Given the description of an element on the screen output the (x, y) to click on. 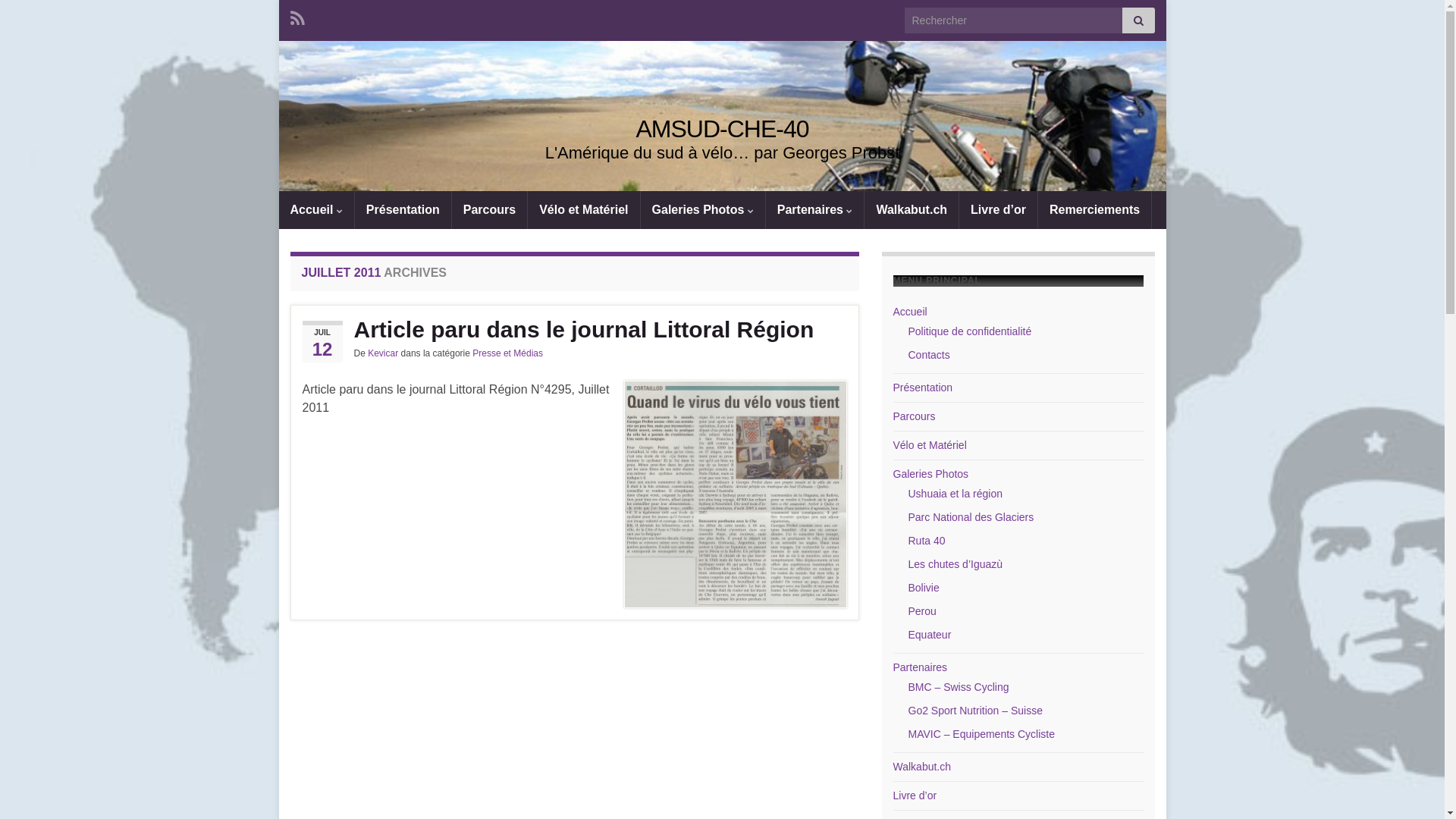
cropped-amsud-che-40-header24.jpg Element type: hover (722, 131)
Partenaires Element type: text (920, 667)
Parc National des Glaciers Element type: text (971, 517)
Contacts Element type: text (929, 354)
Kevicar Element type: text (382, 353)
Perou Element type: text (922, 611)
Walkabut.ch Element type: text (922, 766)
Galeries Photos Element type: text (702, 210)
Galeries Photos Element type: text (931, 473)
Remerciements Element type: text (1094, 210)
Accueil Element type: text (316, 210)
Subscribe to AMSUD-CHE-40's RSS feed Element type: hover (296, 16)
Bolivie Element type: text (923, 587)
Parcours Element type: text (914, 416)
Parcours Element type: text (489, 210)
Ruta 40 Element type: text (926, 540)
Walkabut.ch Element type: text (911, 210)
AMSUD-CHE-40 Element type: text (721, 128)
Partenaires Element type: text (814, 210)
Equateur Element type: text (929, 634)
Accueil Element type: text (910, 311)
